Given the description of an element on the screen output the (x, y) to click on. 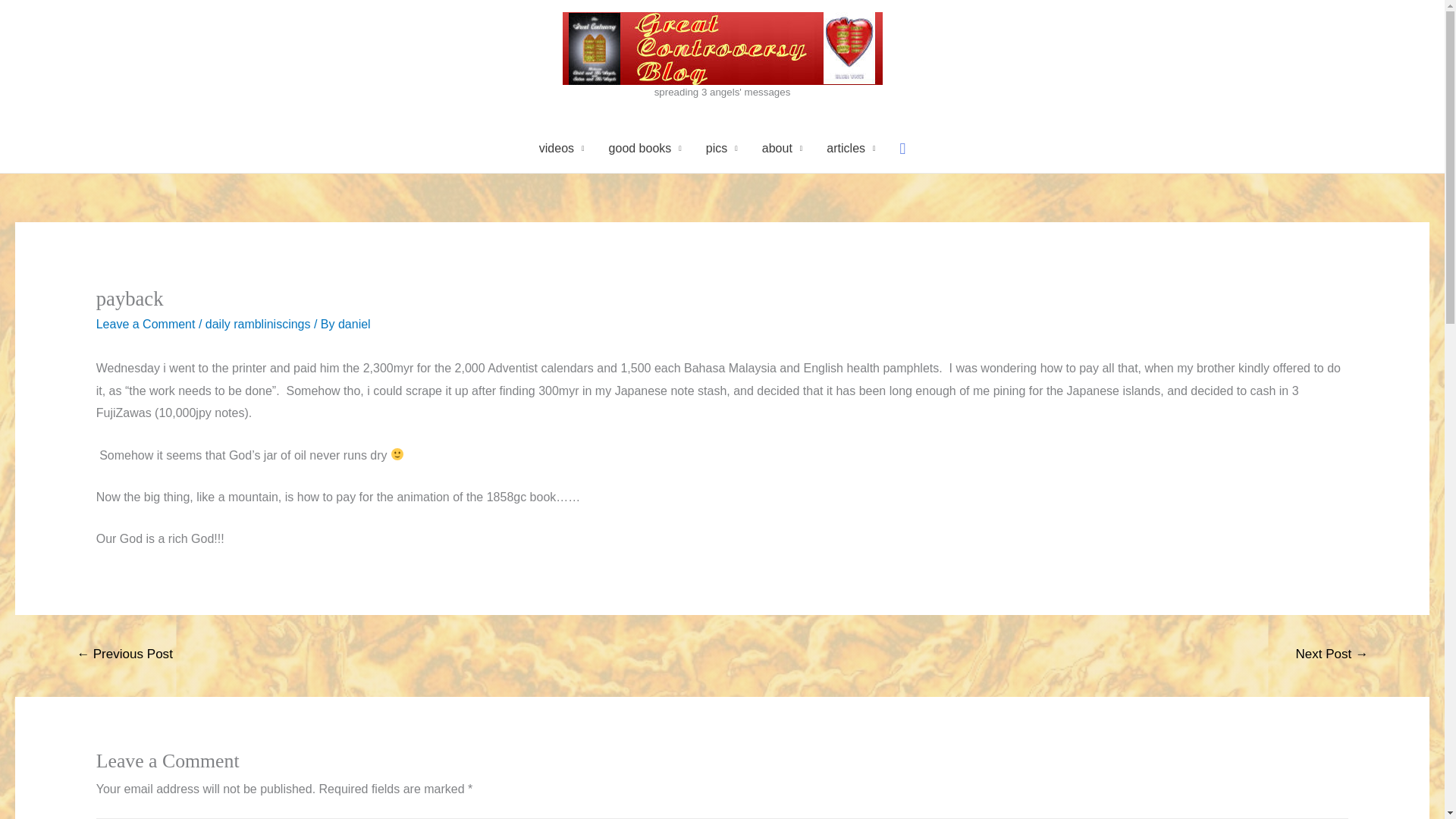
good books (645, 148)
View all posts by daniel (354, 323)
pics (721, 148)
videos (561, 148)
